Given the description of an element on the screen output the (x, y) to click on. 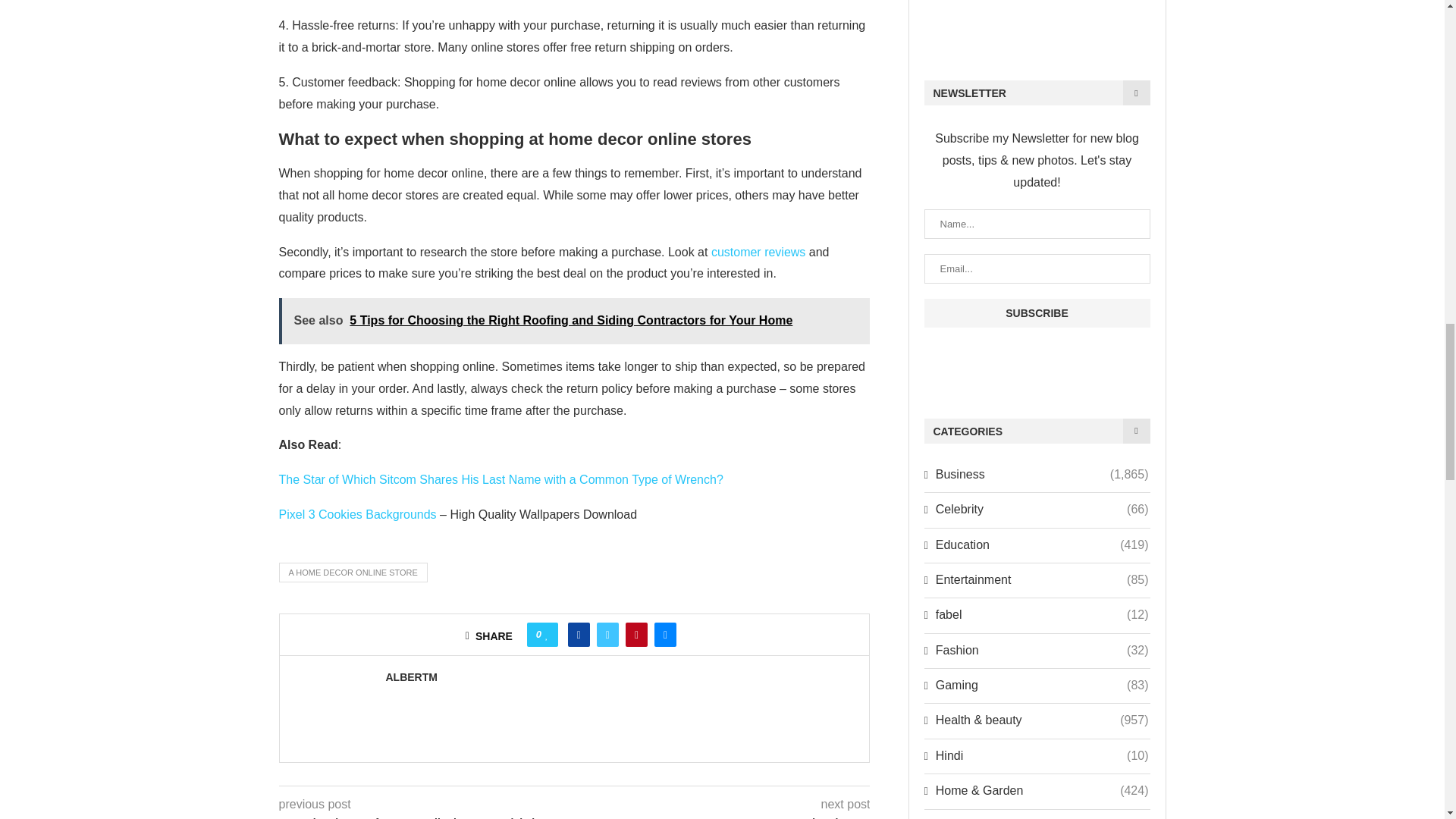
A HOME DECOR ONLINE STORE (353, 572)
Author albertm (410, 676)
customer reviews (758, 251)
Pixel 3 Cookies Backgrounds (357, 513)
Subscribe (1036, 312)
